Given the description of an element on the screen output the (x, y) to click on. 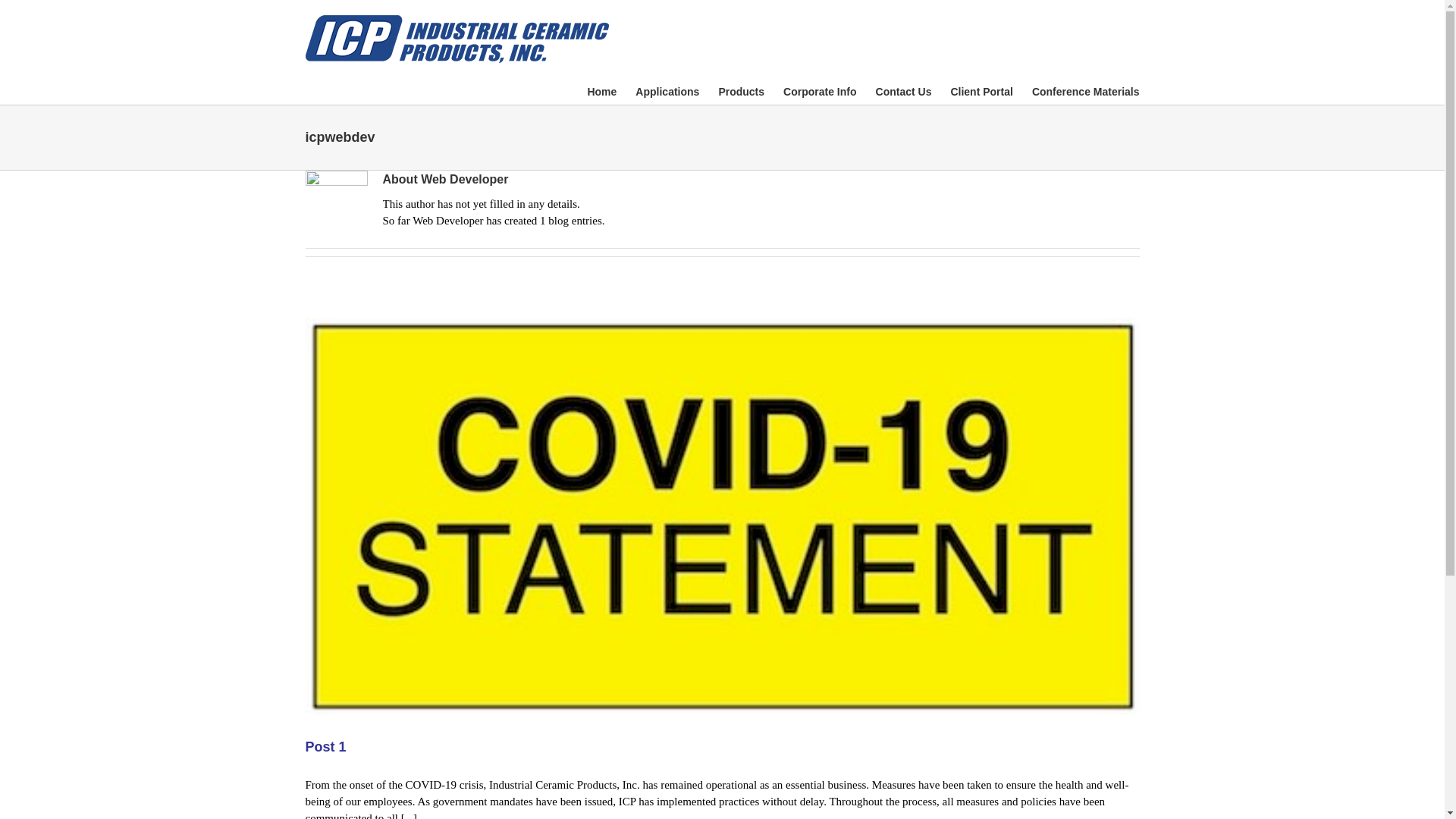
Conference Materials (1086, 90)
Corporate Info (819, 90)
Applications (666, 90)
Client Portal (980, 90)
Home (600, 90)
Products (740, 90)
Contact Us (903, 90)
Post 1 (325, 746)
